Given the description of an element on the screen output the (x, y) to click on. 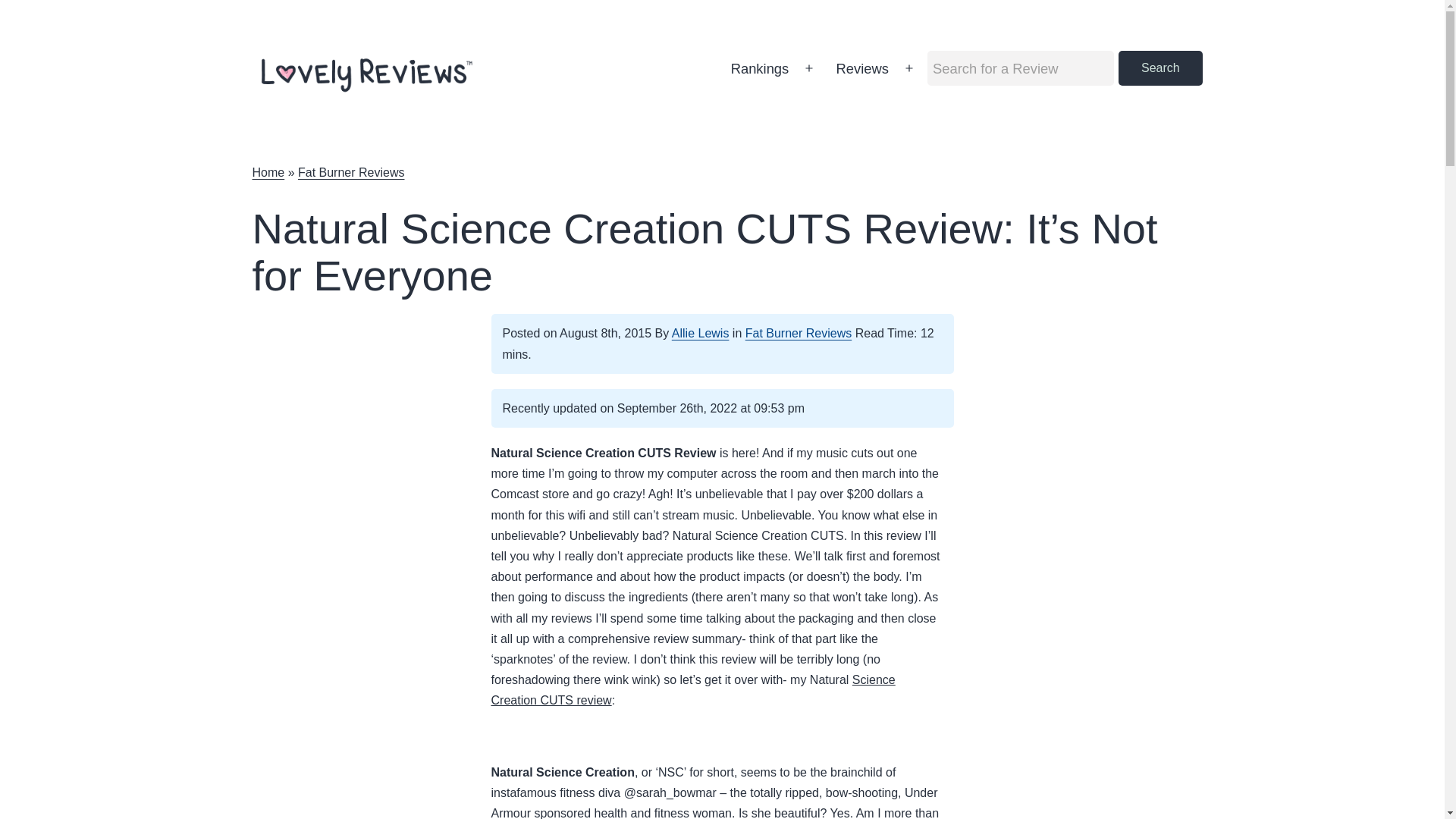
Open menu (909, 67)
Open menu (808, 67)
Fat Burner Reviews (798, 332)
Home (267, 172)
Search (1160, 67)
Search (1160, 67)
Rankings (758, 68)
Allie Lewis (700, 332)
Search (1160, 67)
Reviews (861, 68)
Fat Burner Reviews (351, 172)
